Given the description of an element on the screen output the (x, y) to click on. 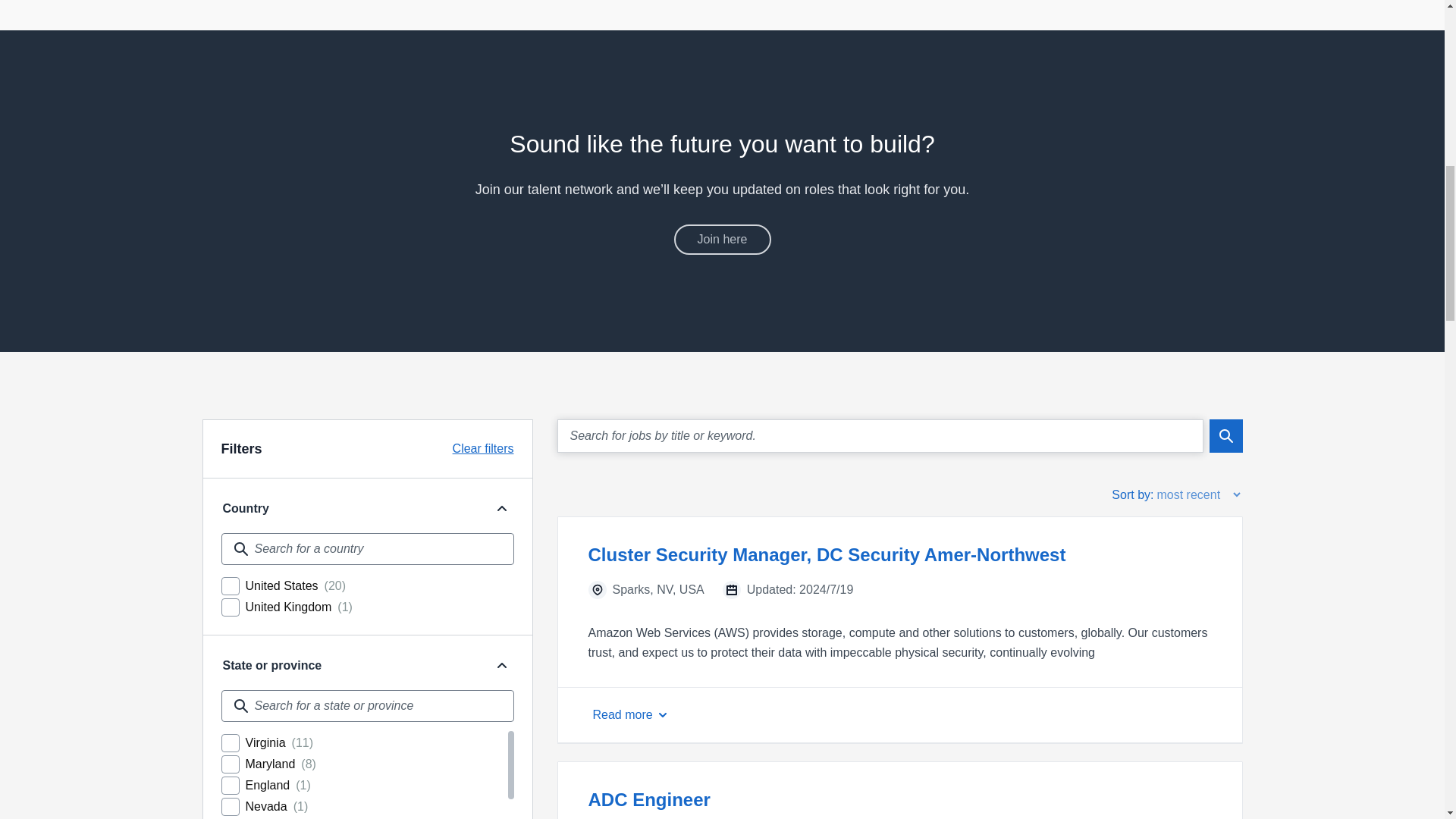
Clear filters (482, 448)
State or province (501, 665)
State or province (350, 665)
Join here (721, 239)
Country (501, 508)
Country (350, 508)
Join here (721, 239)
